Given the description of an element on the screen output the (x, y) to click on. 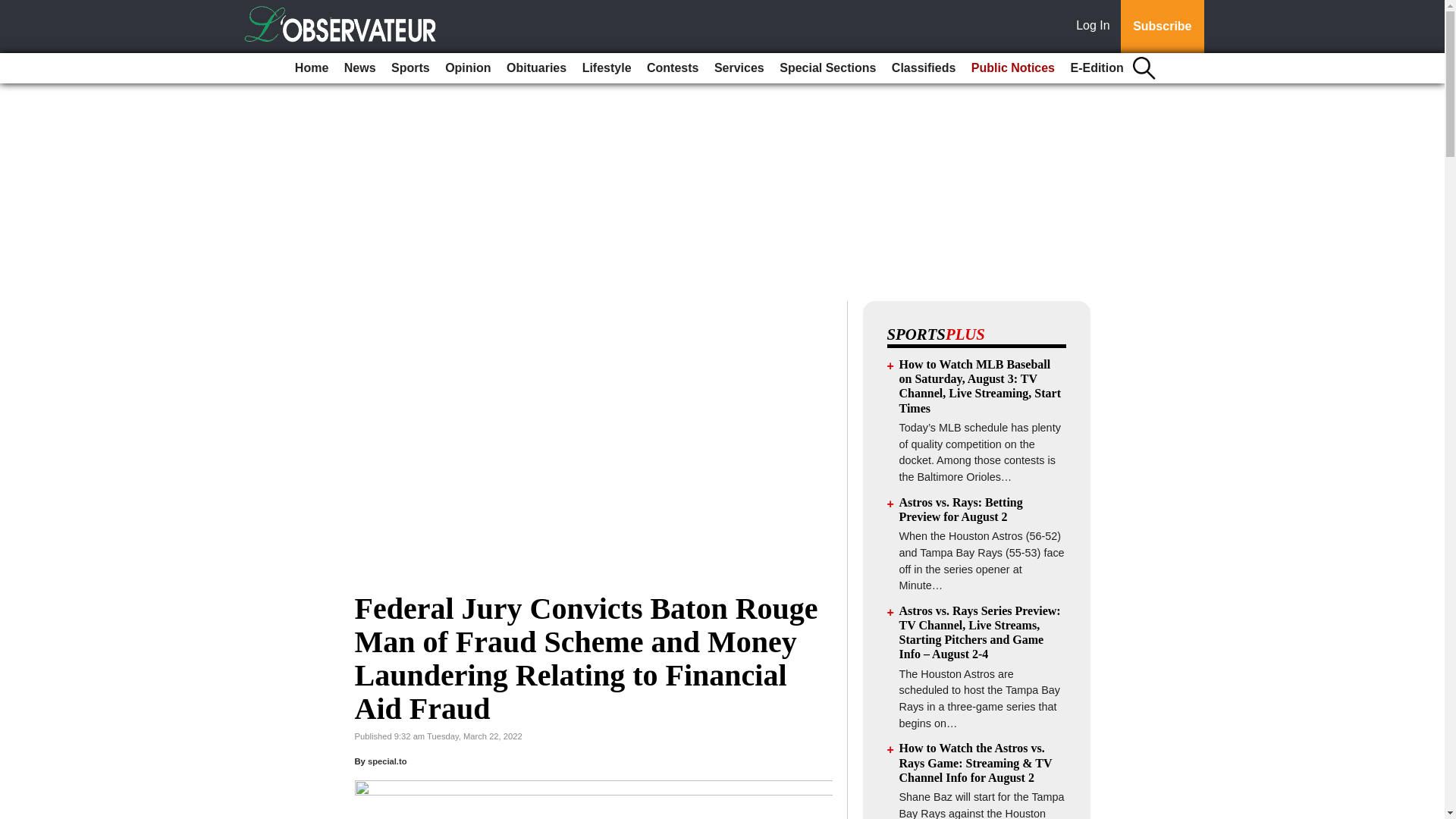
Subscribe (1162, 26)
Services (738, 68)
E-Edition (1096, 68)
News (359, 68)
Go (13, 9)
Lifestyle (606, 68)
Sports (410, 68)
Astros vs. Rays: Betting Preview for August 2 (961, 509)
Log In (1095, 26)
special.to (387, 760)
Public Notices (1013, 68)
Classifieds (922, 68)
Contests (672, 68)
Special Sections (827, 68)
